Given the description of an element on the screen output the (x, y) to click on. 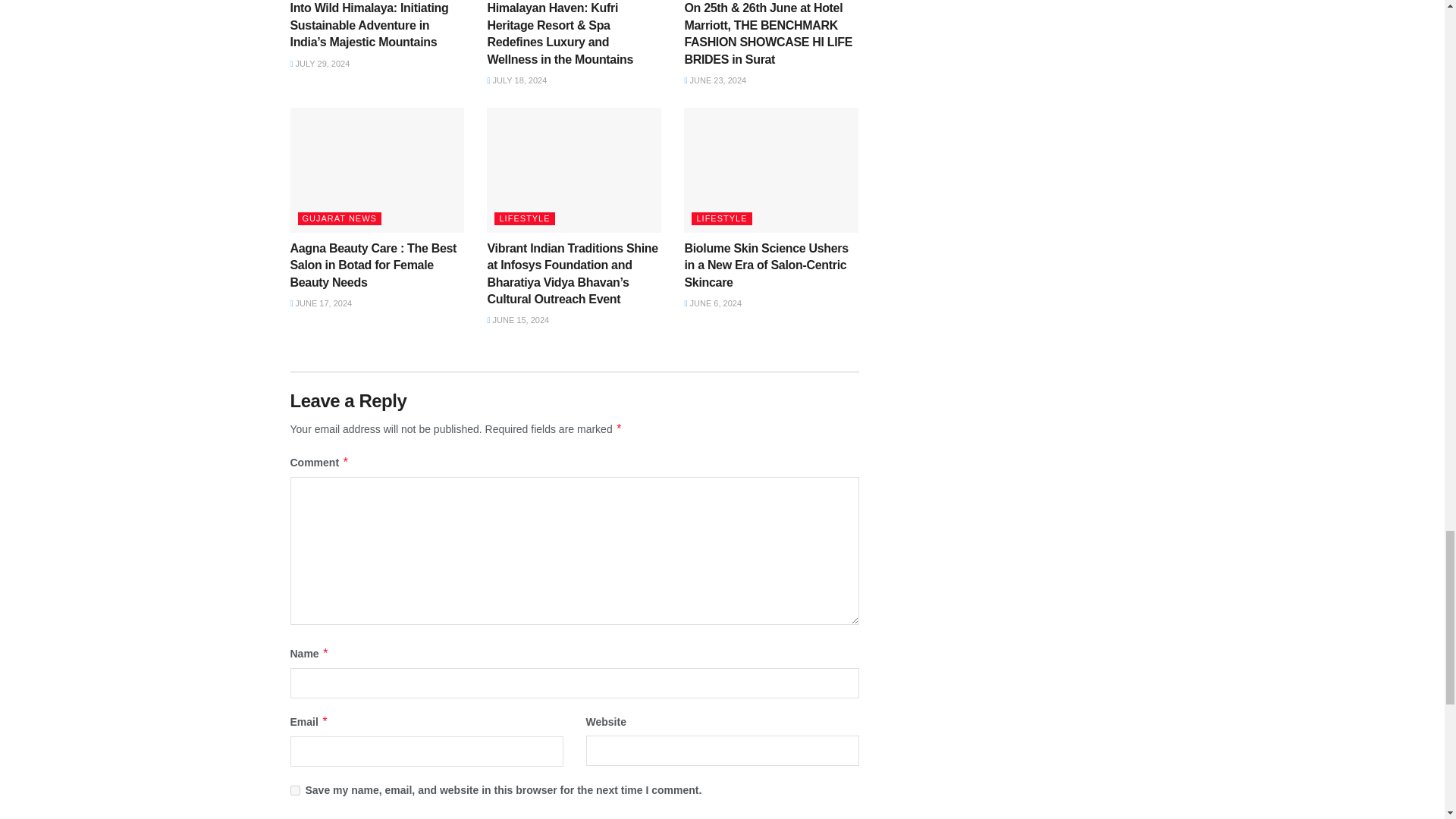
yes (294, 790)
